Given the description of an element on the screen output the (x, y) to click on. 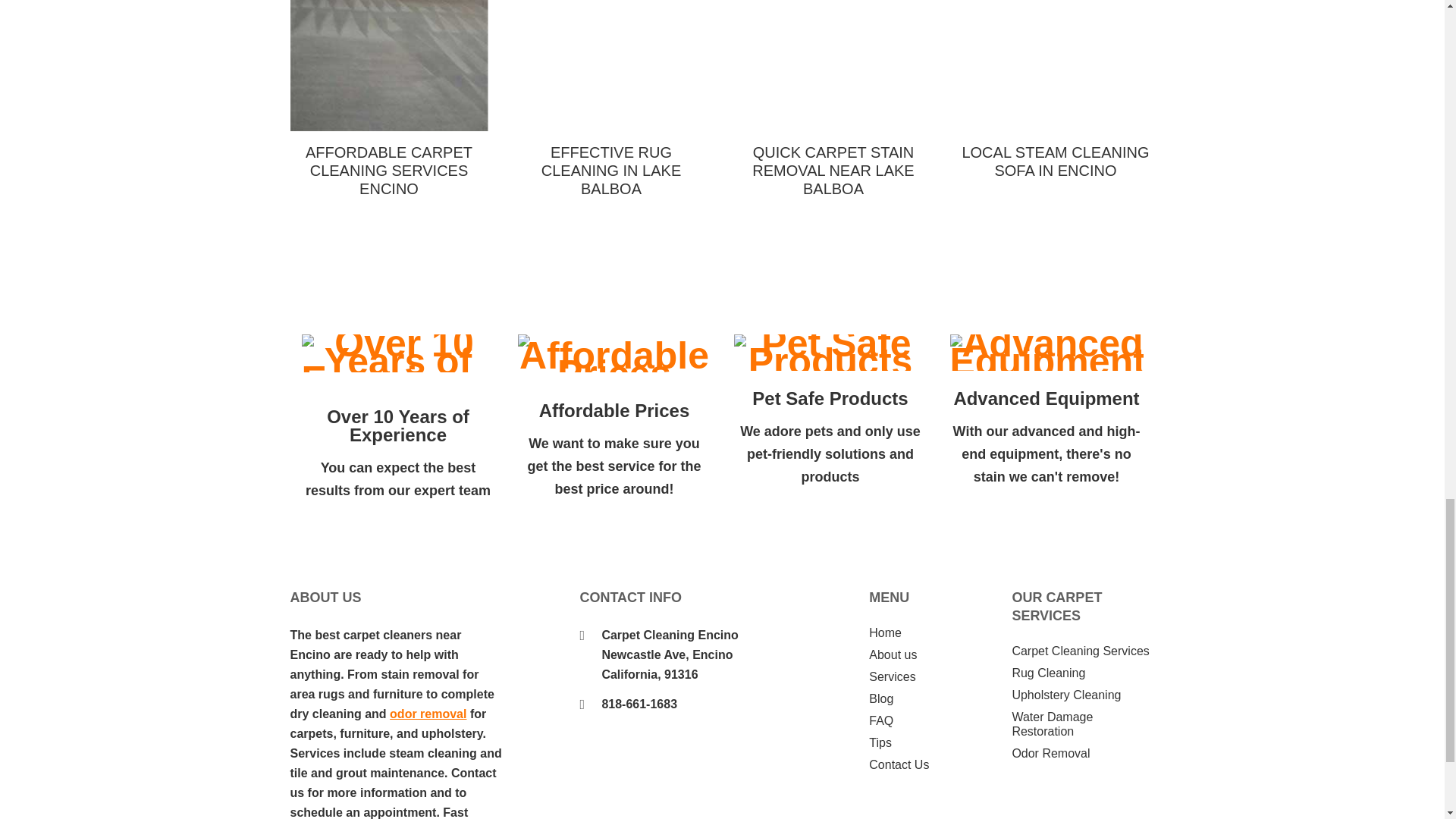
Pet Safe Products (830, 352)
Affordable Prices (613, 353)
AFFORDABLE CARPET CLEANING SERVICES ENCINO (388, 99)
QUICK CARPET STAIN REMOVAL NEAR LAKE BALBOA (832, 99)
Over 10 Years of Experience (398, 353)
LOCAL STEAM CLEANING SOFA IN ENCINO (1055, 89)
EFFECTIVE RUG CLEANING IN LAKE BALBOA (611, 99)
